Given the description of an element on the screen output the (x, y) to click on. 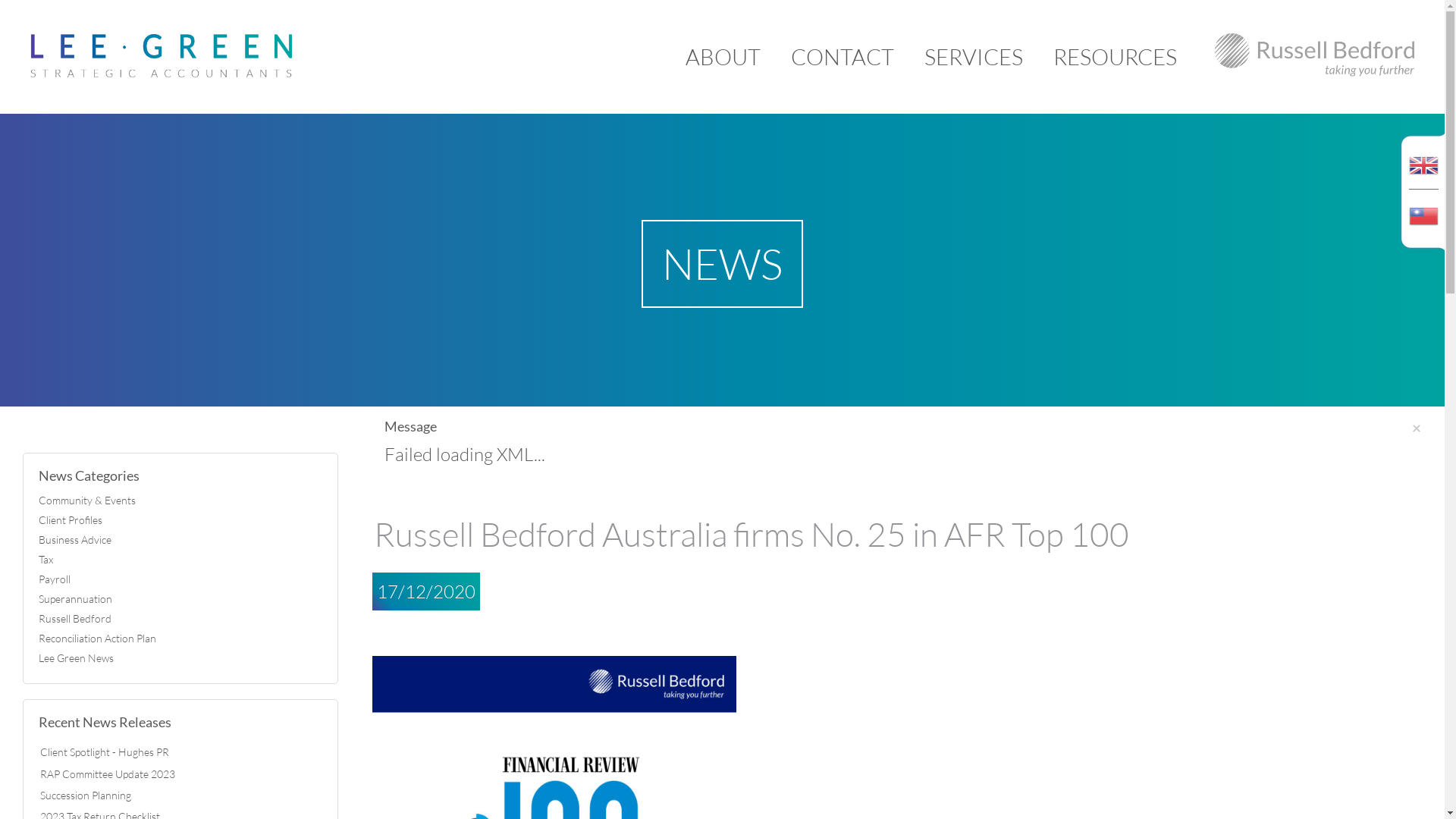
Russell Bedford Element type: text (180, 618)
RAP Committee Update 2023 Element type: text (107, 773)
Succession Planning Element type: text (85, 794)
Client Profiles Element type: text (180, 520)
Chinese (Traditional) Element type: hover (1423, 223)
RESOURCES Element type: text (1114, 56)
Lee Green News Element type: text (180, 658)
Payroll Element type: text (180, 579)
Reconciliation Action Plan Element type: text (180, 638)
CONTACT Element type: text (842, 56)
Superannuation Element type: text (180, 598)
English Element type: hover (1423, 155)
SERVICES Element type: text (973, 56)
Community & Events Element type: text (180, 500)
Client Spotlight - Hughes PR Element type: text (104, 751)
Tax Element type: text (180, 559)
Business Advice Element type: text (180, 539)
ABOUT Element type: text (722, 56)
